Given the description of an element on the screen output the (x, y) to click on. 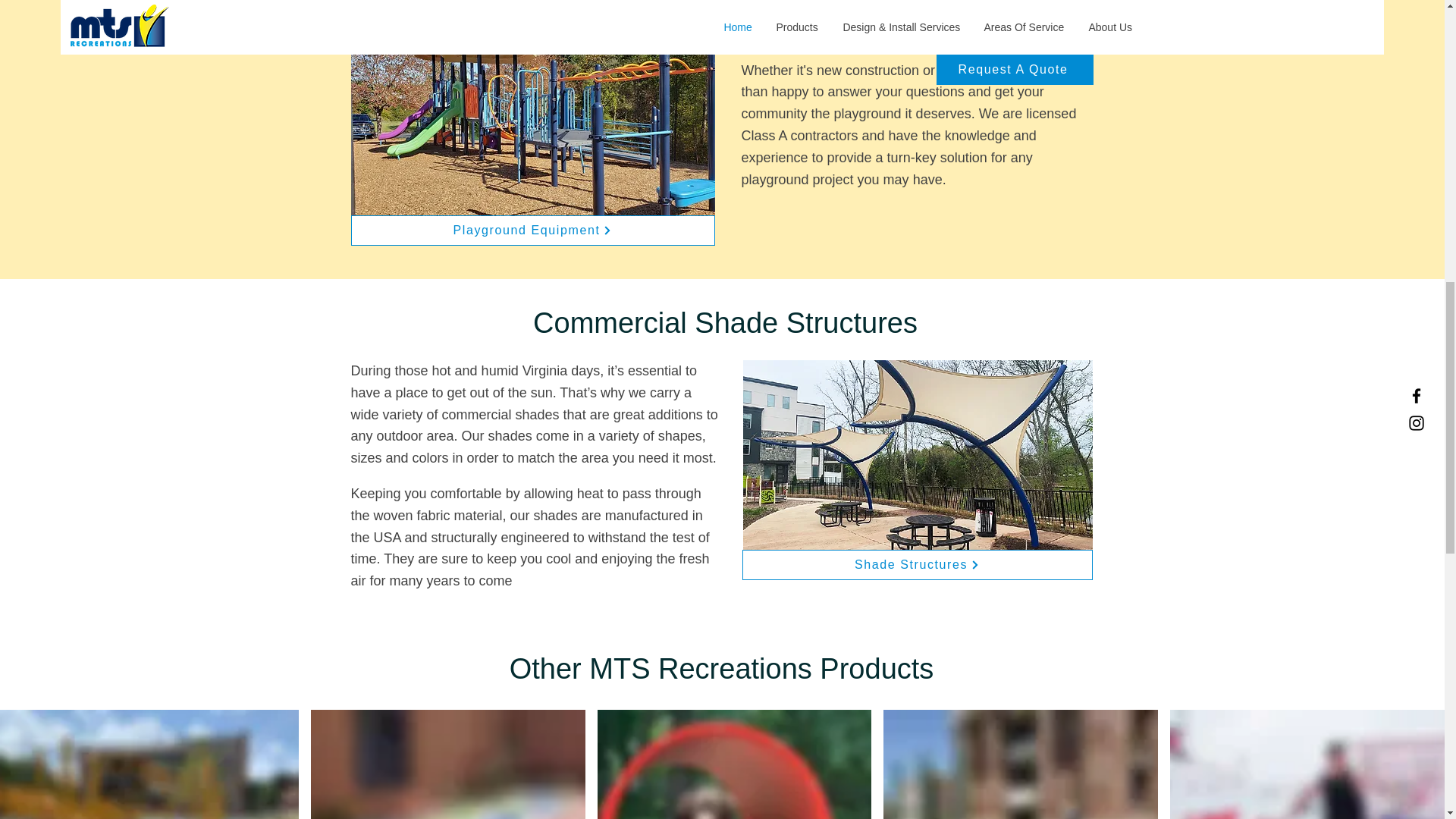
playground shade structure (917, 469)
Playground Equipment (532, 230)
Shade Structures (916, 564)
metal playground (532, 121)
